Given the description of an element on the screen output the (x, y) to click on. 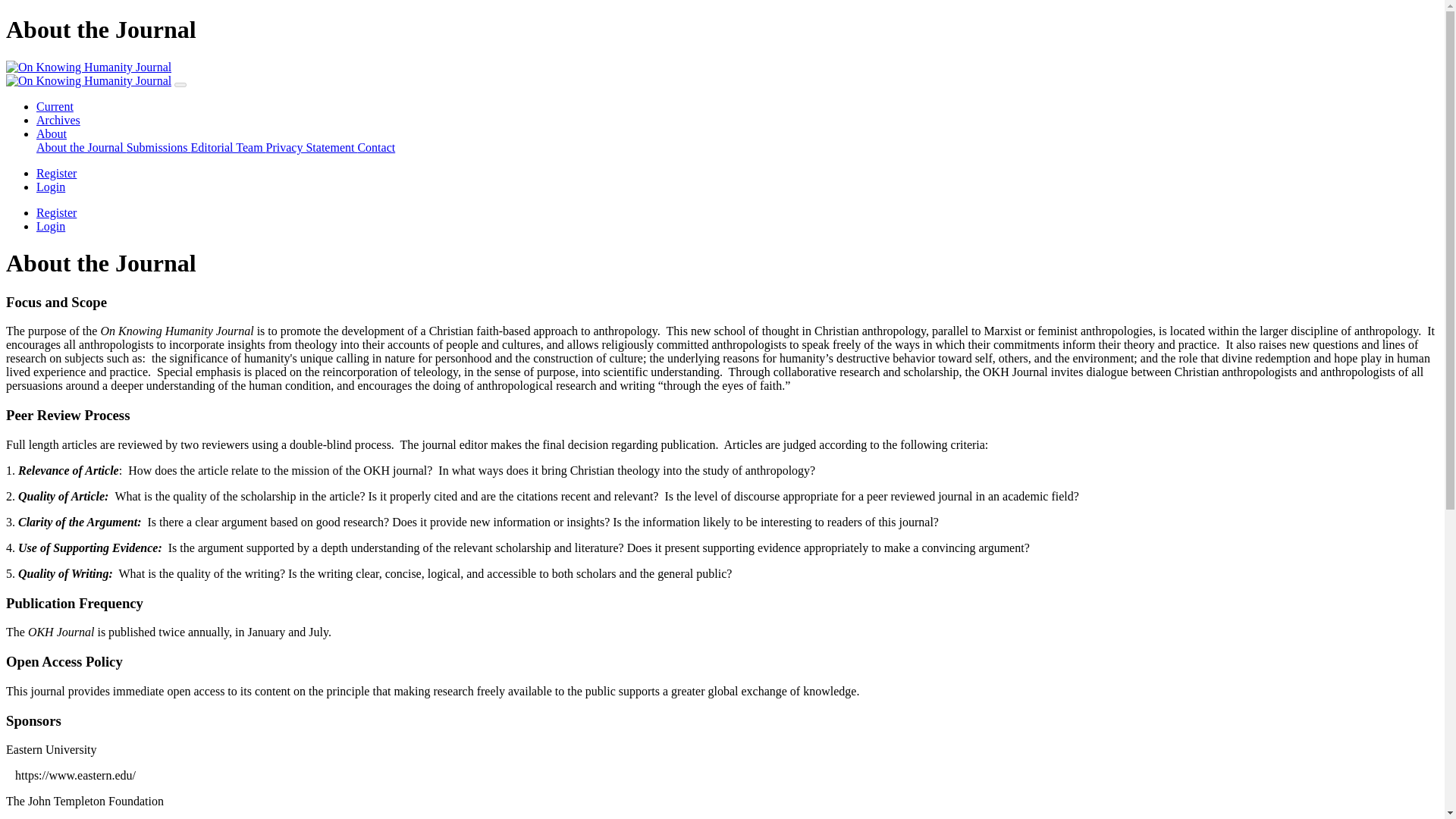
About the Journal (81, 146)
Archives (58, 119)
Editorial Team (228, 146)
About (51, 133)
Submissions (158, 146)
Register (56, 212)
Contact (375, 146)
Privacy Statement (312, 146)
Register (56, 173)
Login (50, 226)
Current (55, 106)
Login (50, 186)
